Given the description of an element on the screen output the (x, y) to click on. 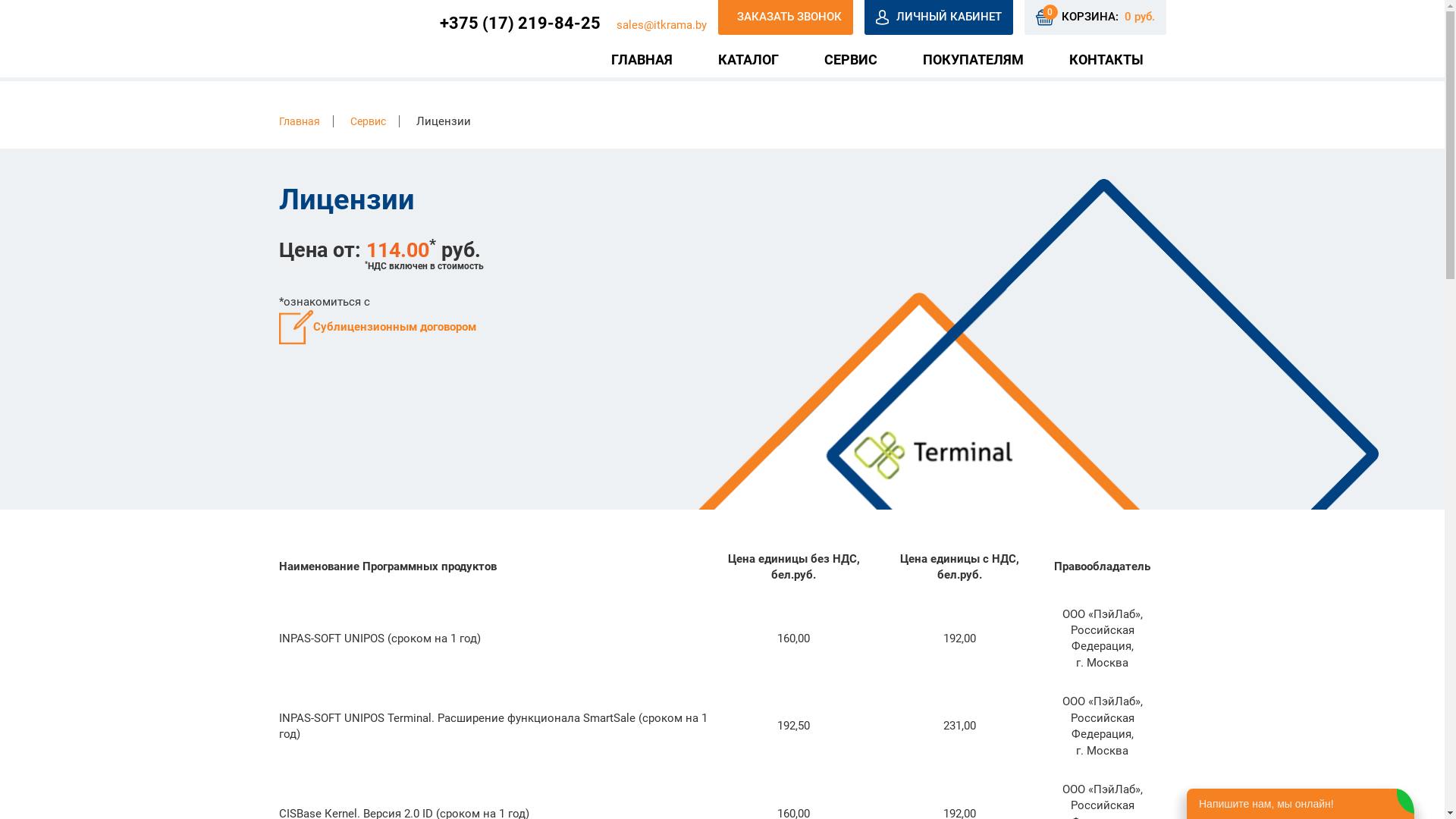
sales@itkrama.by Element type: text (660, 24)
+375 (17) 219-84-25 Element type: text (519, 22)
